Given the description of an element on the screen output the (x, y) to click on. 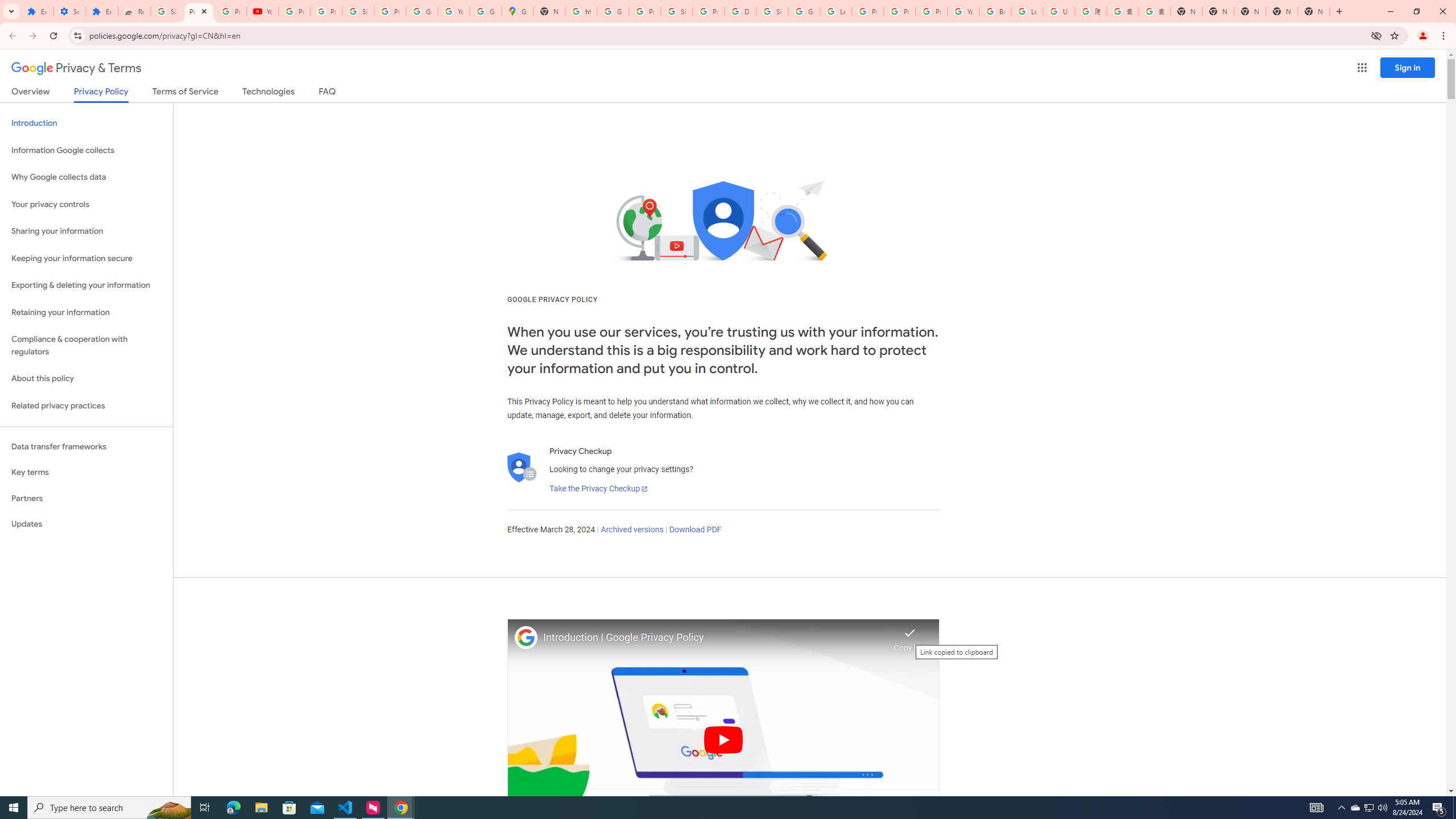
Extensions (101, 11)
Sign in - Google Accounts (358, 11)
Your privacy controls (86, 204)
Compliance & cooperation with regulators (86, 345)
Google Account (421, 11)
Privacy Help Center - Policies Help (899, 11)
Sign in - Google Accounts (772, 11)
